Given the description of an element on the screen output the (x, y) to click on. 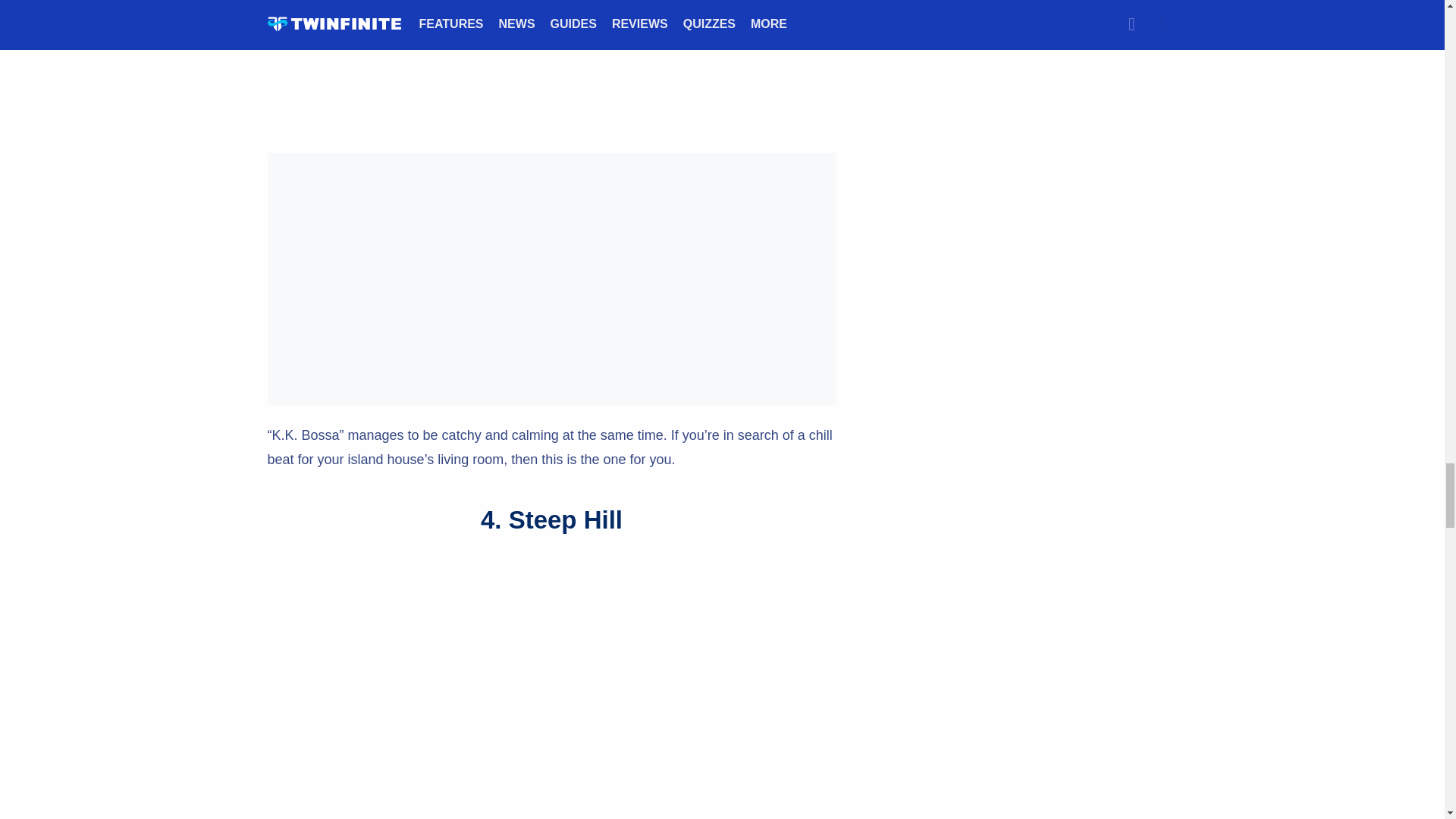
K.K. Bossa - K.K. Slider (550, 65)
